Given the description of an element on the screen output the (x, y) to click on. 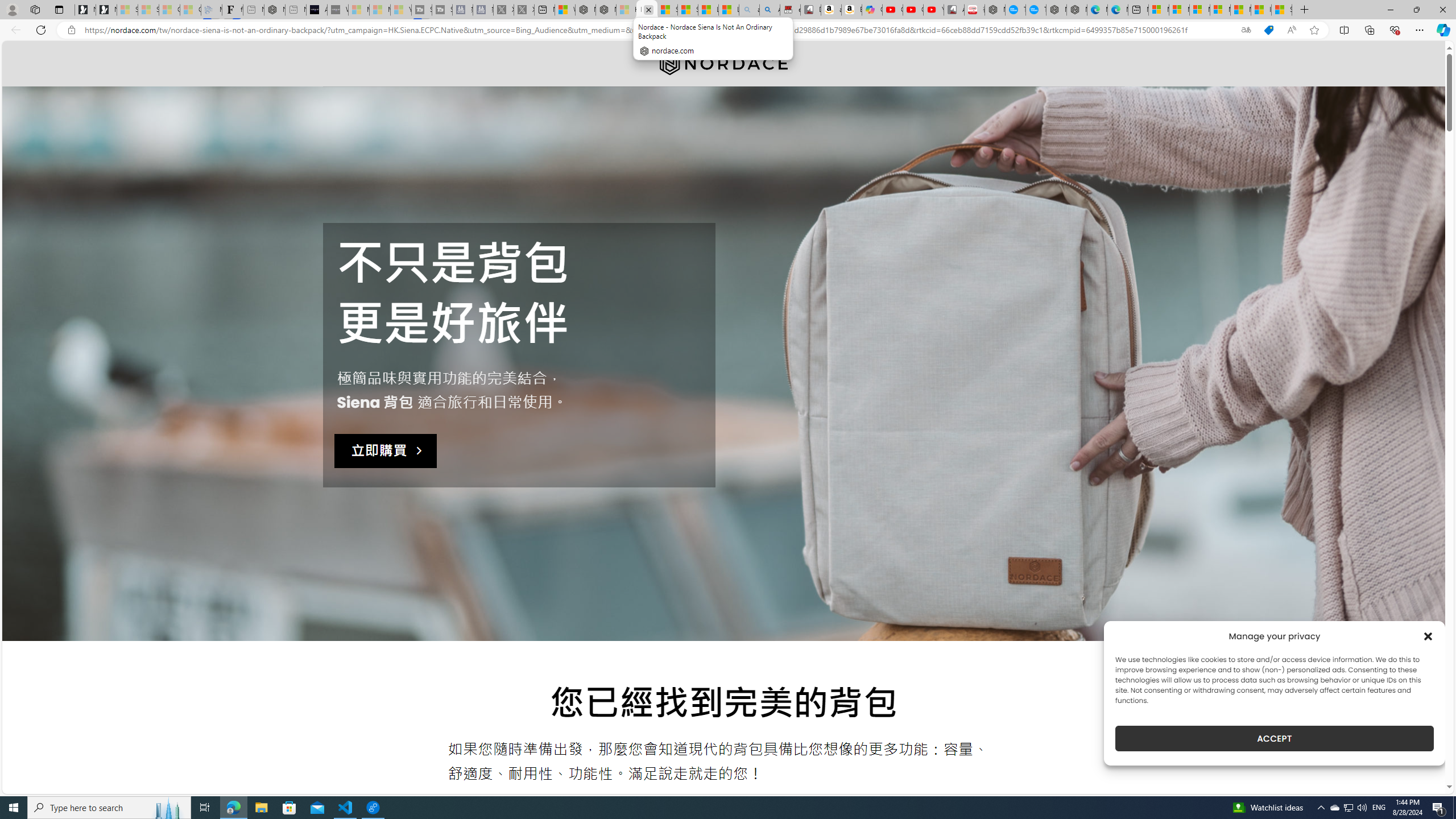
I Gained 20 Pounds of Muscle in 30 Days! | Watch (1261, 9)
ACCEPT (1274, 738)
New tab - Sleeping (296, 9)
